Given the description of an element on the screen output the (x, y) to click on. 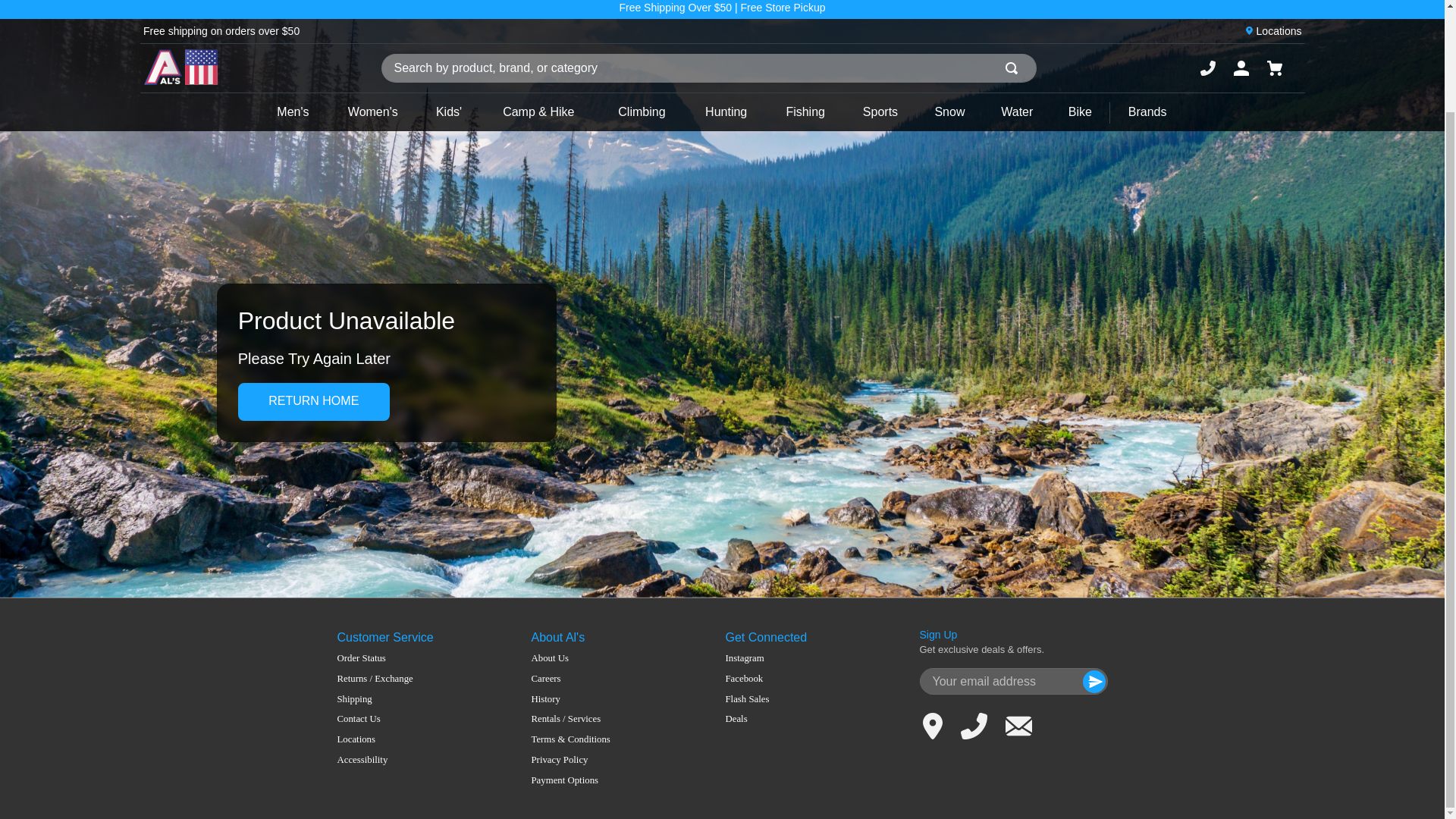
Fishing (804, 112)
History (570, 699)
About Us (570, 658)
Bike (1079, 112)
Shipping (374, 699)
Sports (880, 112)
Locations (1278, 30)
Shipping (374, 699)
Climbing (641, 112)
Locations (374, 739)
Water (1017, 112)
Hunting (726, 112)
Water (1017, 112)
Payment Options (570, 780)
Instagram (746, 658)
